Given the description of an element on the screen output the (x, y) to click on. 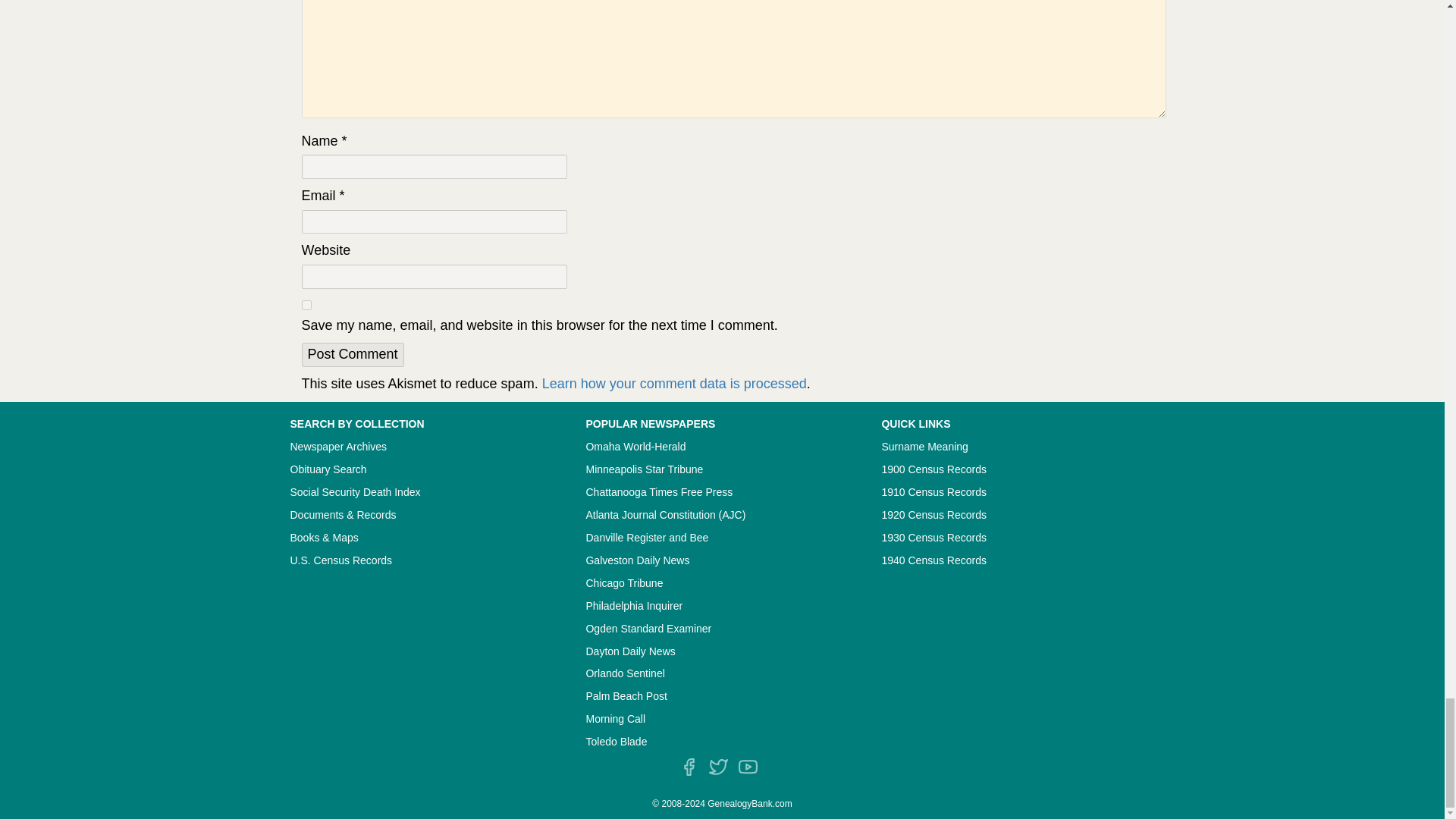
Post Comment (352, 354)
Follow GenealogyBank on Twitter (718, 766)
Follow GenealogyBank on Facebook (688, 766)
Post Comment (352, 354)
Learn how your comment data is processed (673, 383)
yes (306, 305)
Follow GenealogyBank on Youtube (747, 766)
